Given the description of an element on the screen output the (x, y) to click on. 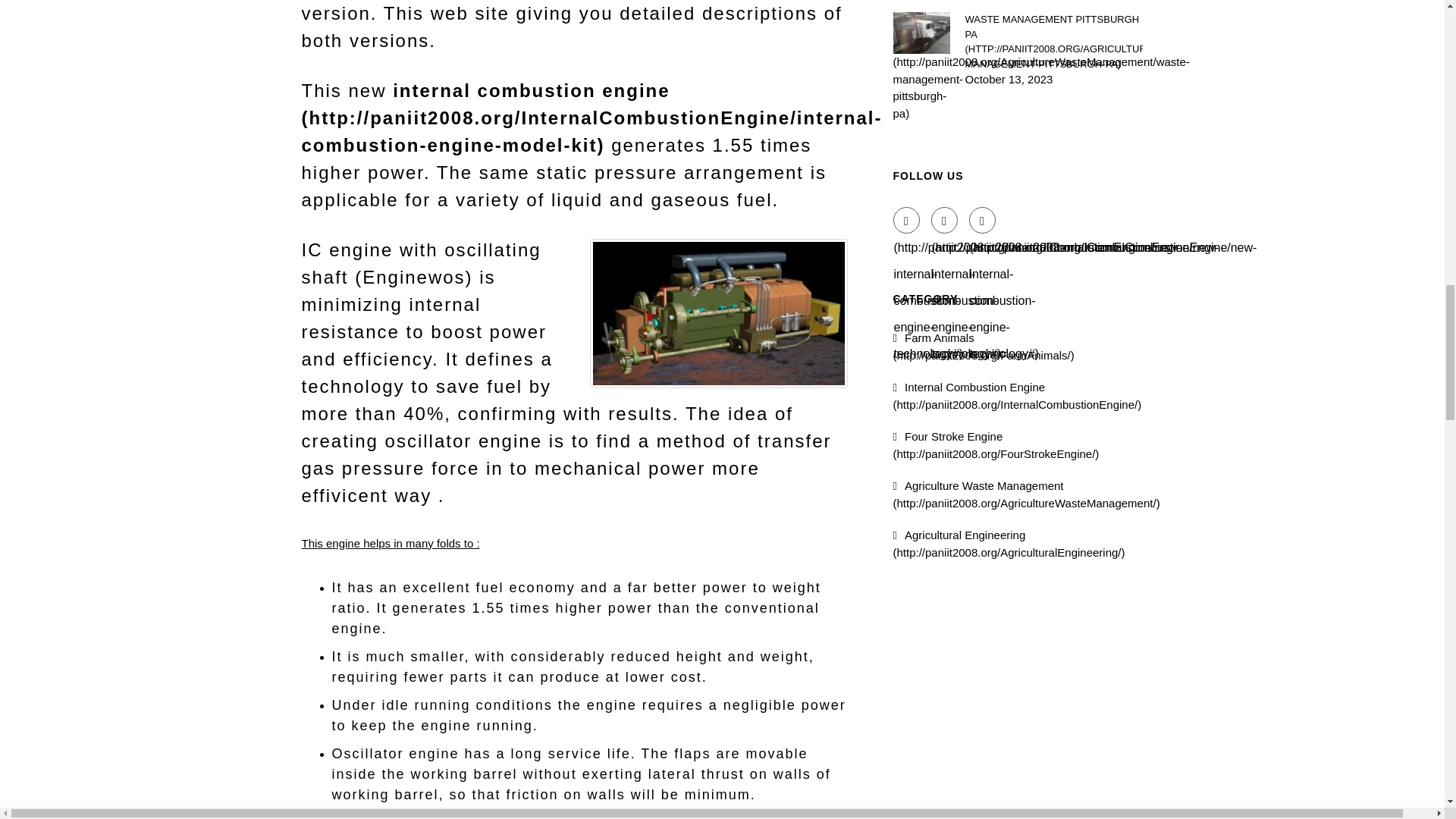
Facebook (906, 220)
Google Plus (982, 220)
View all posts filed under Internal Combustion Engine (1017, 395)
View all posts filed under Four Stroke Engine (996, 444)
internal combustion engine (591, 117)
Twitter (944, 220)
Internal combustion engine Model Kit (591, 117)
View all posts filed under Agricultural Engineering (1009, 543)
View all posts filed under Agriculture Waste Management (1026, 494)
View all posts filed under Farm Animals (983, 346)
WASTE MANAGEMENT PITTSBURGH PA (1052, 41)
